Given the description of an element on the screen output the (x, y) to click on. 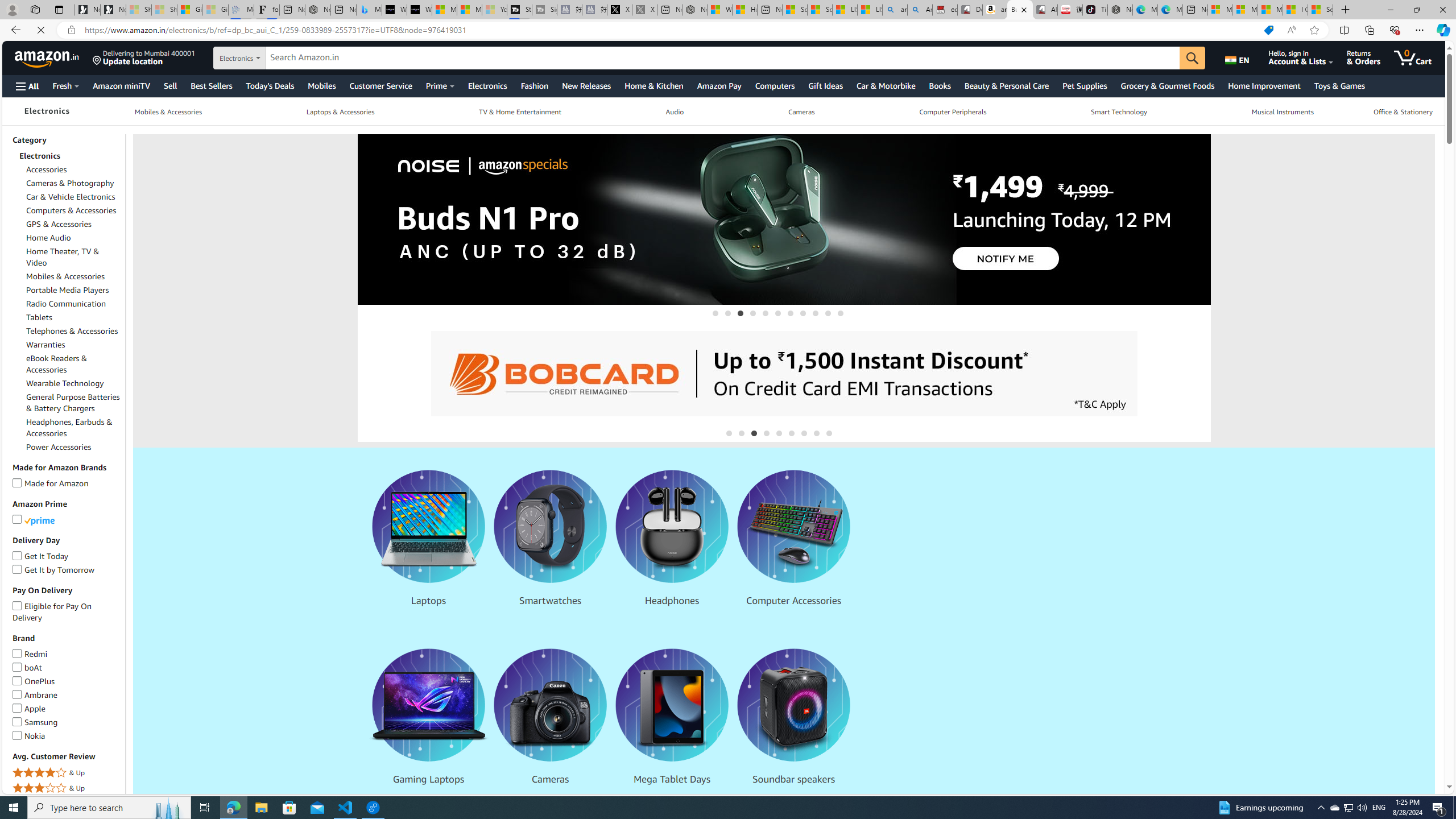
Prime (440, 85)
Home Improvement (1263, 85)
Shopping in Microsoft Edge (1268, 29)
Car & Motorbike (885, 85)
